Given the description of an element on the screen output the (x, y) to click on. 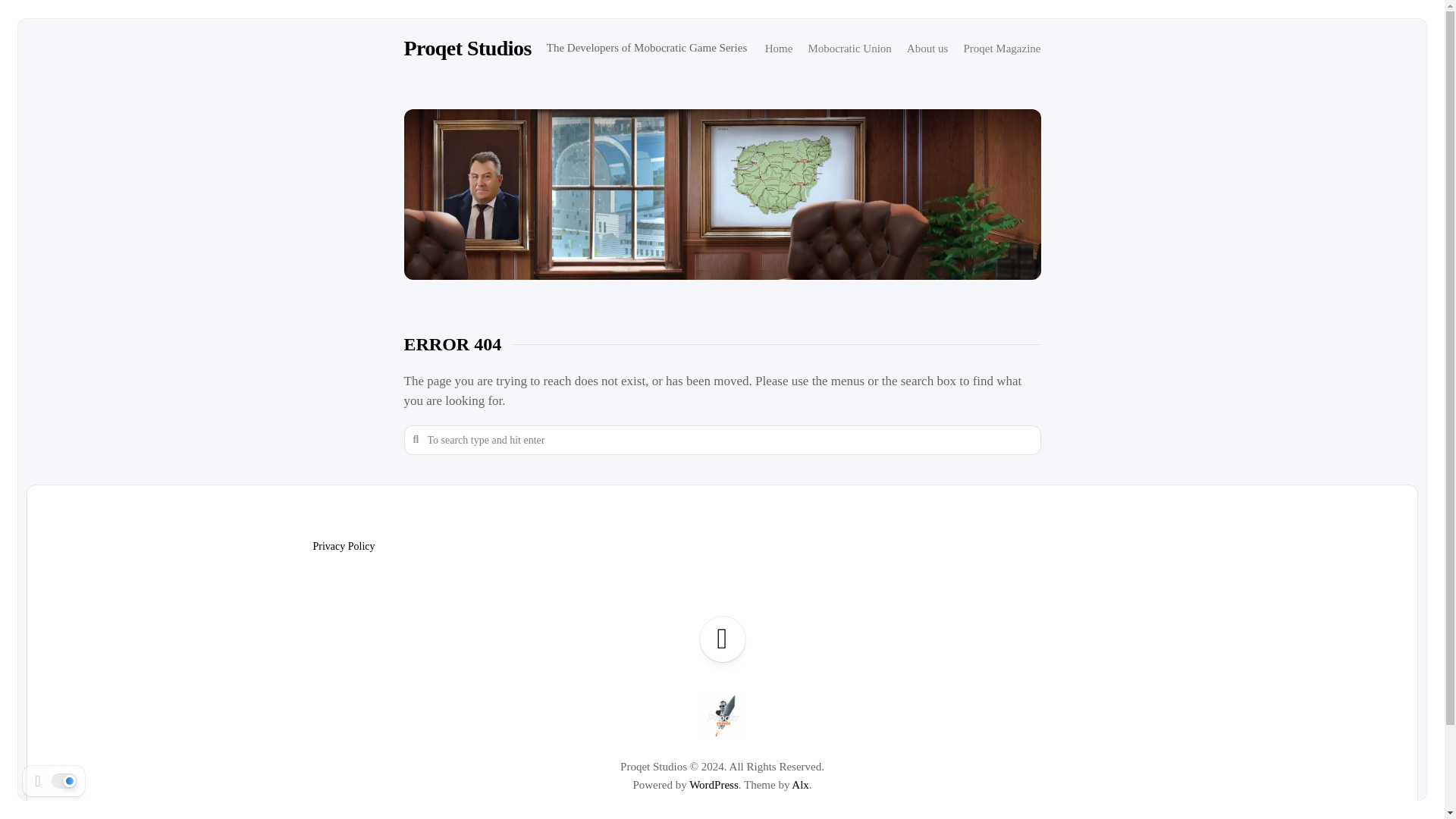
To search type and hit enter (722, 440)
To search type and hit enter (722, 440)
About us (928, 48)
Alx (800, 784)
Home (779, 48)
Proqet Studios (467, 48)
WordPress (713, 784)
Privacy Policy (343, 546)
Proqet Magazine (1001, 48)
Mobocratic Union (849, 48)
